Given the description of an element on the screen output the (x, y) to click on. 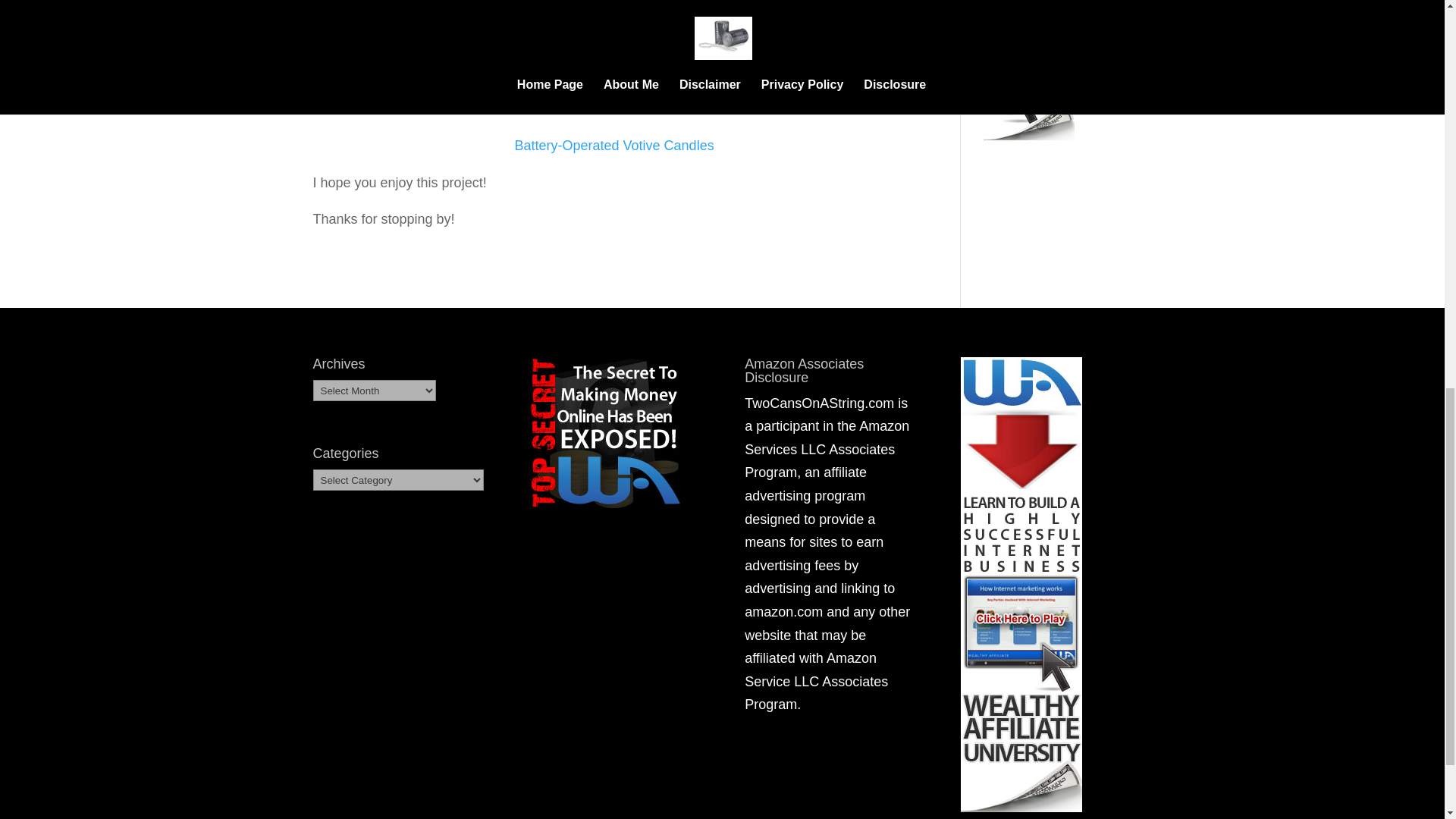
Clear Monofilament (613, 109)
heavy black paper (614, 34)
heavy black paper (614, 34)
Battery-Operated Votive Candles (613, 145)
Orange Vellum (614, 71)
Battery-Operated Votive Candles (613, 145)
Orange Vellum (614, 71)
Clear Monofilament (613, 109)
